Given the description of an element on the screen output the (x, y) to click on. 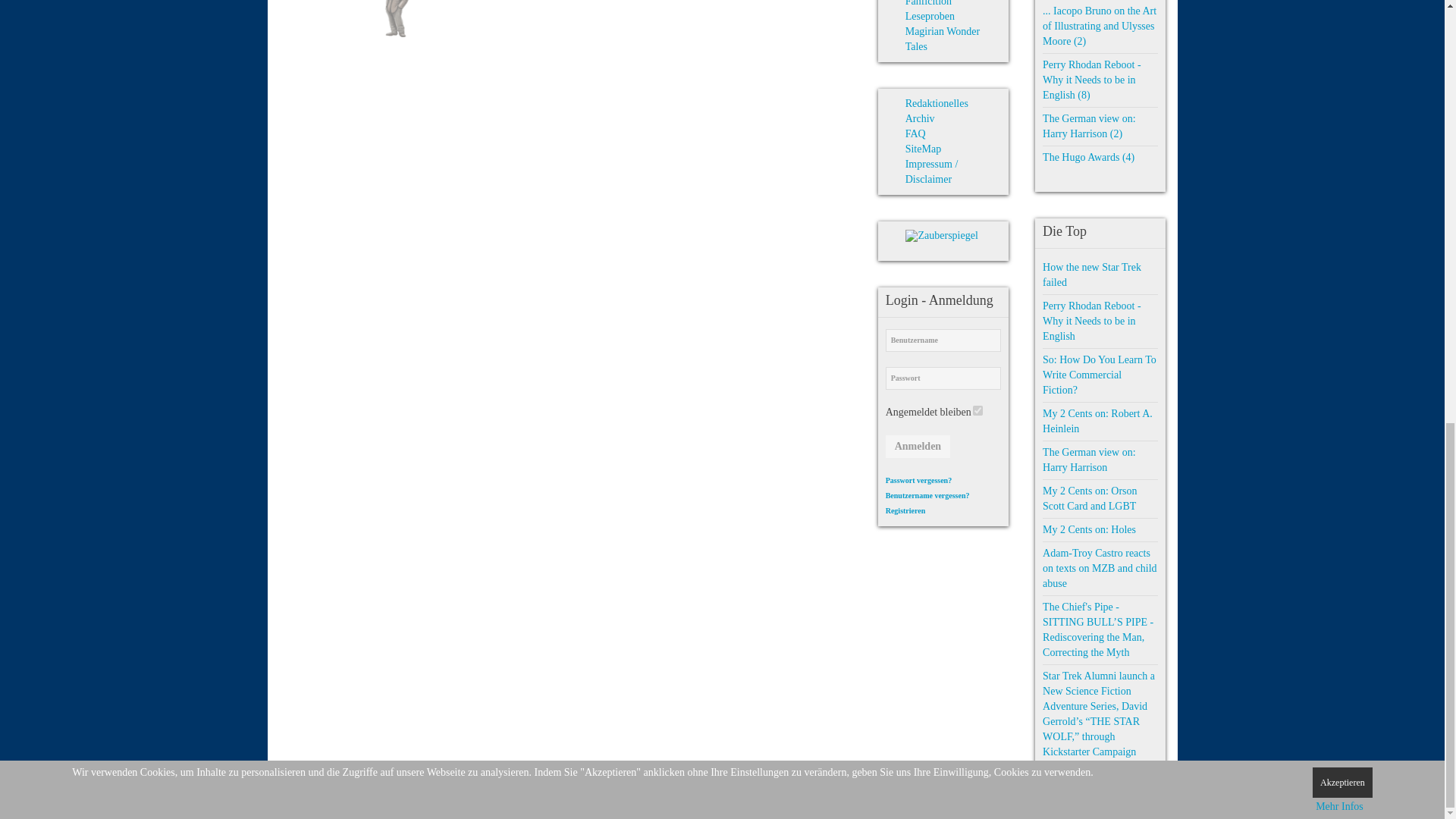
Zauberspiegel - seit 1982 (940, 235)
yes (977, 410)
